Given the description of an element on the screen output the (x, y) to click on. 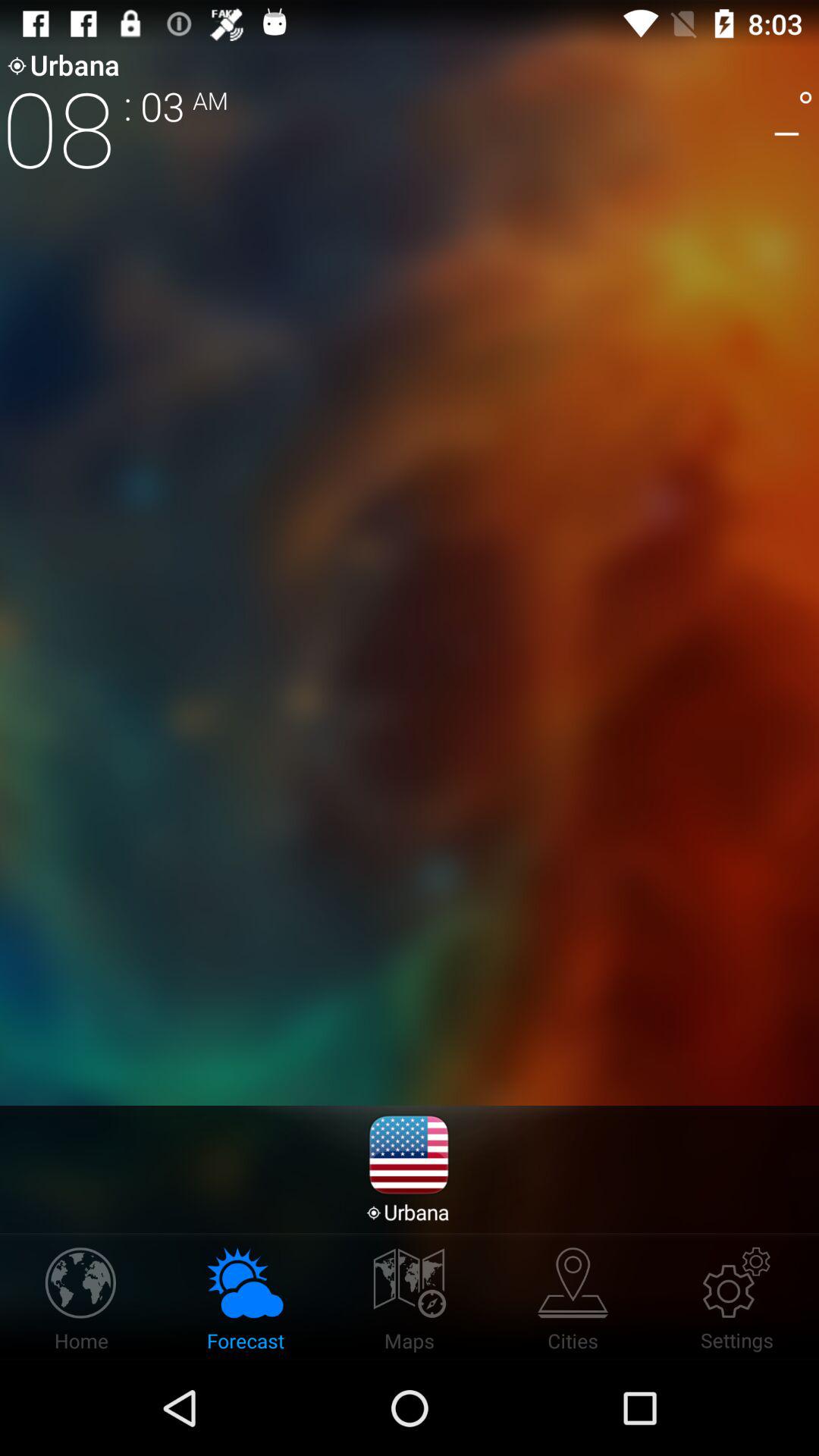
click on the icon and urbana which is at bottom of the page (408, 1168)
